Given the description of an element on the screen output the (x, y) to click on. 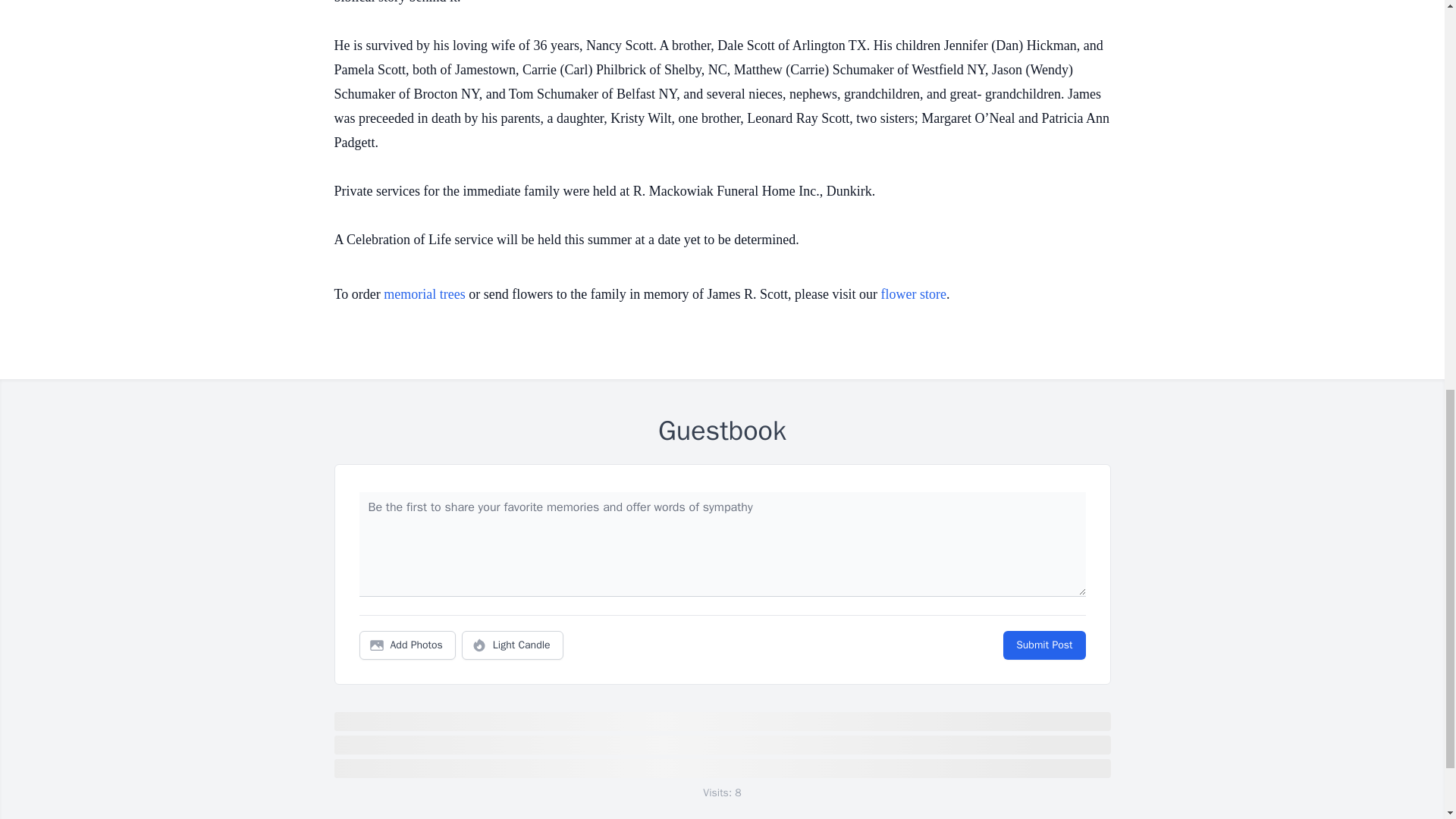
memorial trees (424, 294)
Submit Post (1043, 645)
Add Photos (407, 645)
flower store (913, 294)
Light Candle (512, 645)
